Given the description of an element on the screen output the (x, y) to click on. 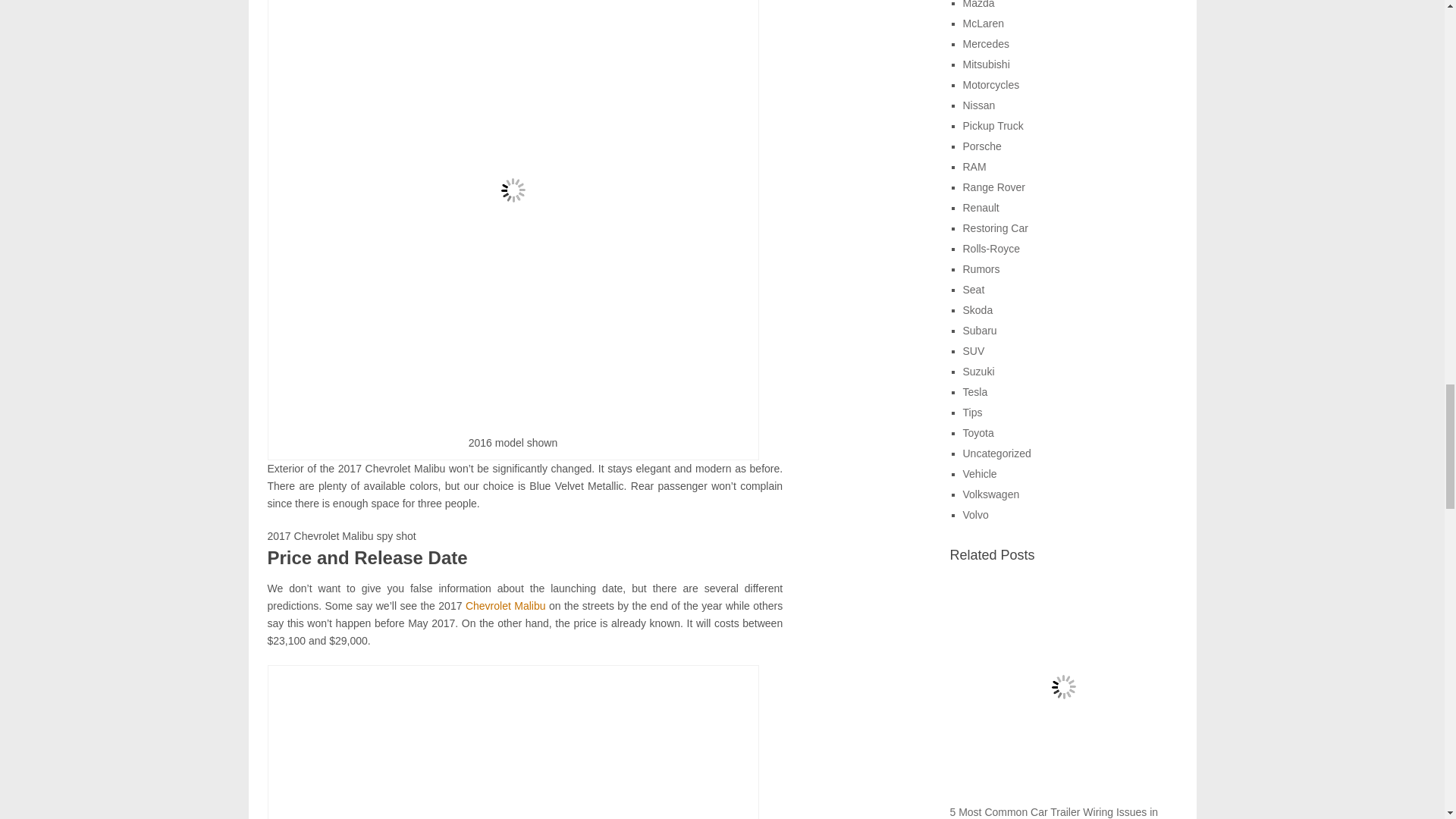
Chevrolet Malibu (505, 605)
2017 Chevrolet Malibu Rear View 630x362 (513, 744)
